Given the description of an element on the screen output the (x, y) to click on. 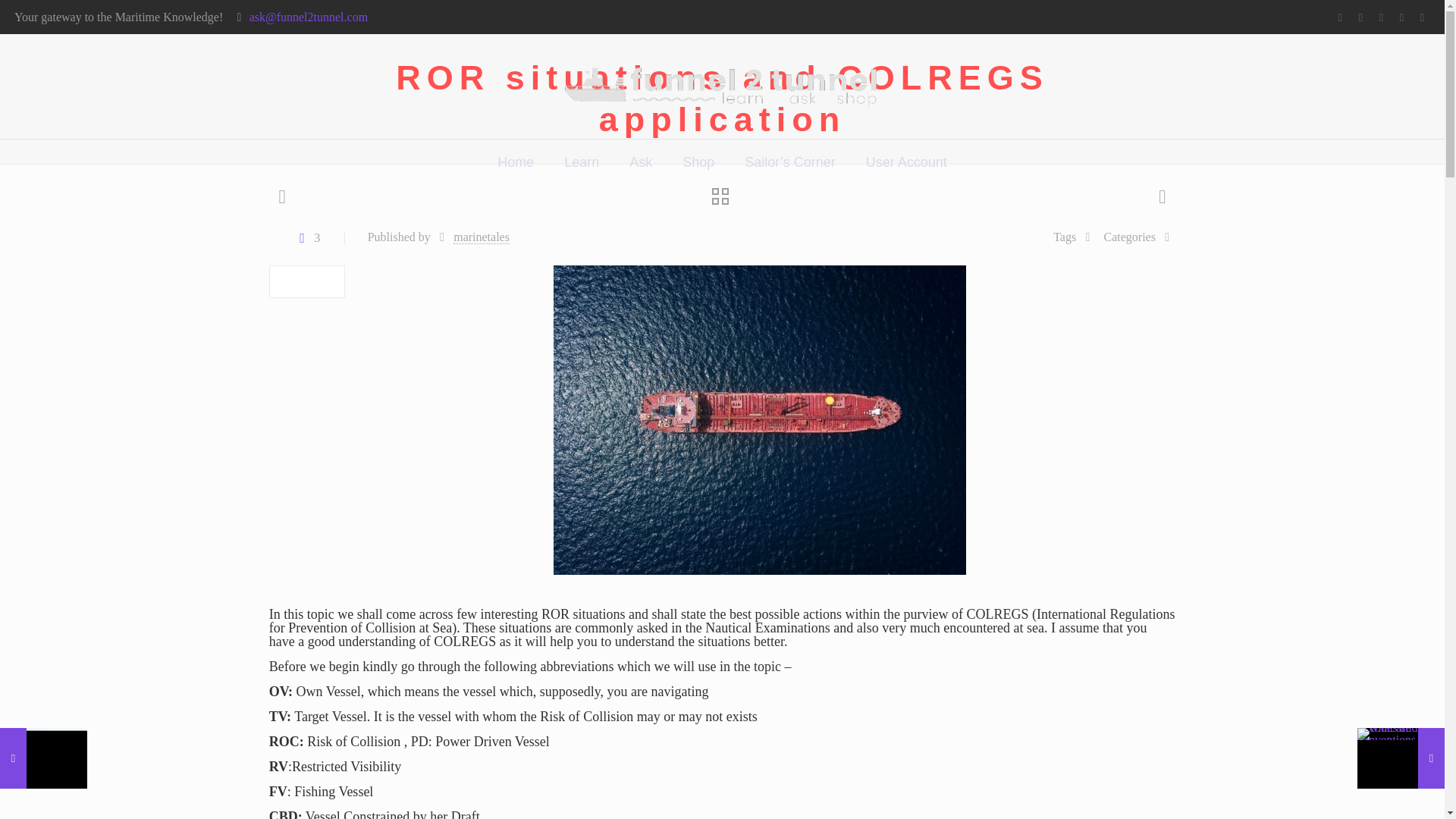
Home (514, 162)
Instagram (1421, 17)
Shop (697, 162)
Facebook (1340, 17)
marinetales (480, 237)
YouTube (1381, 17)
Learn (581, 162)
LinkedIn (1401, 17)
Ask (640, 162)
3 (306, 237)
